Given the description of an element on the screen output the (x, y) to click on. 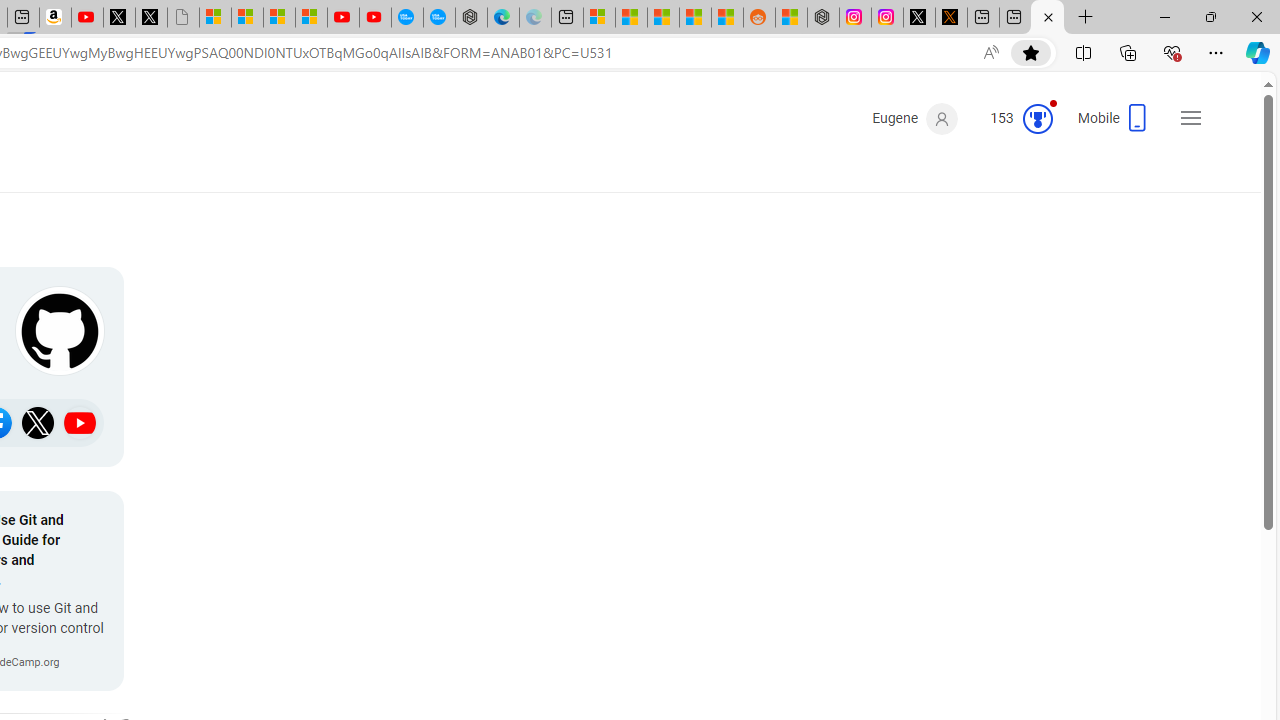
github - Search (1047, 17)
Untitled (182, 17)
Log in to X / X (919, 17)
Shanghai, China Weather trends | Microsoft Weather (727, 17)
Mobile (1114, 124)
Class: b_sitlk (80, 422)
